Given the description of an element on the screen output the (x, y) to click on. 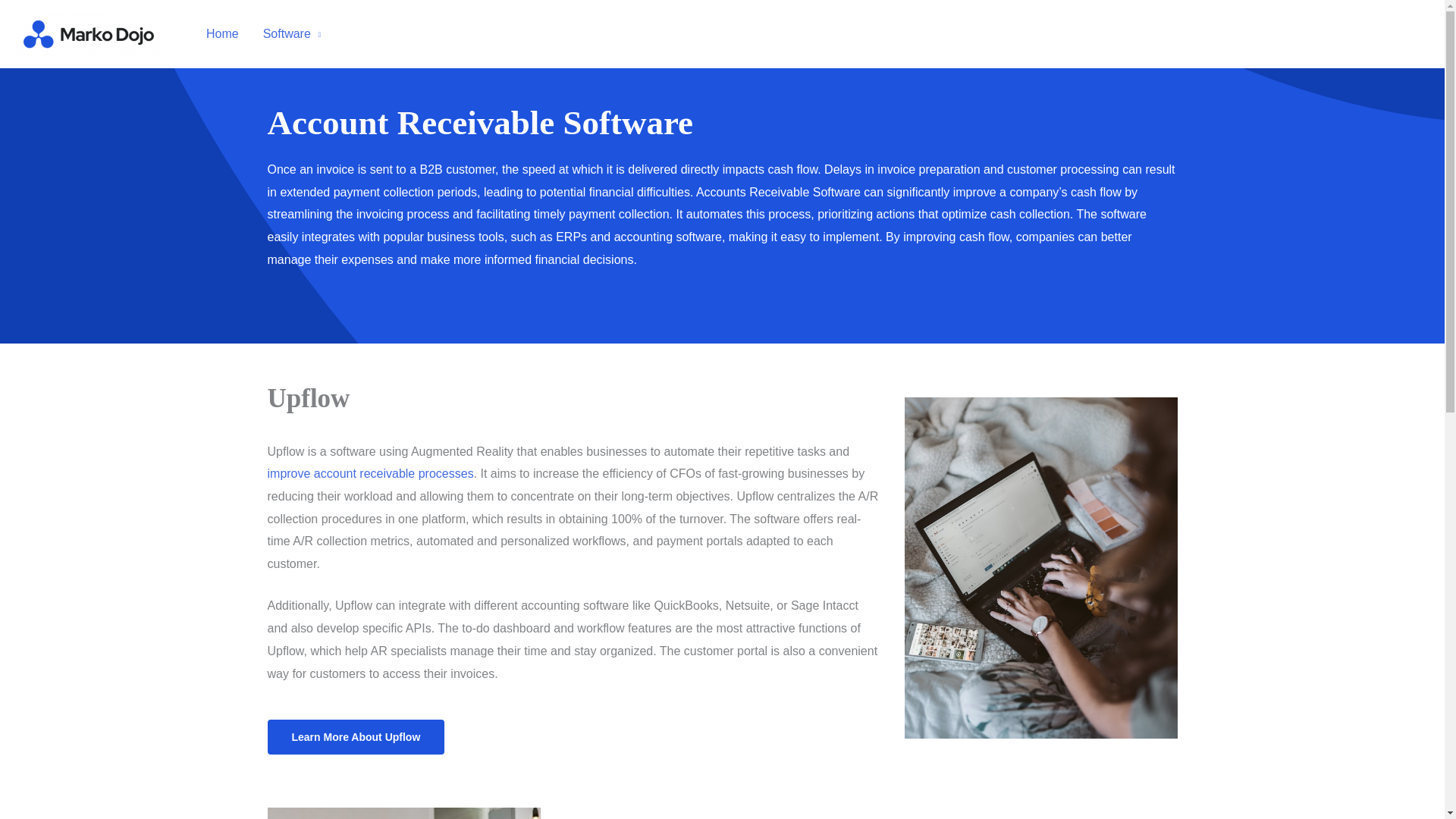
Learn More About Upflow (355, 736)
improve account receivable processes (369, 472)
Software (291, 33)
Home (221, 33)
